Given the description of an element on the screen output the (x, y) to click on. 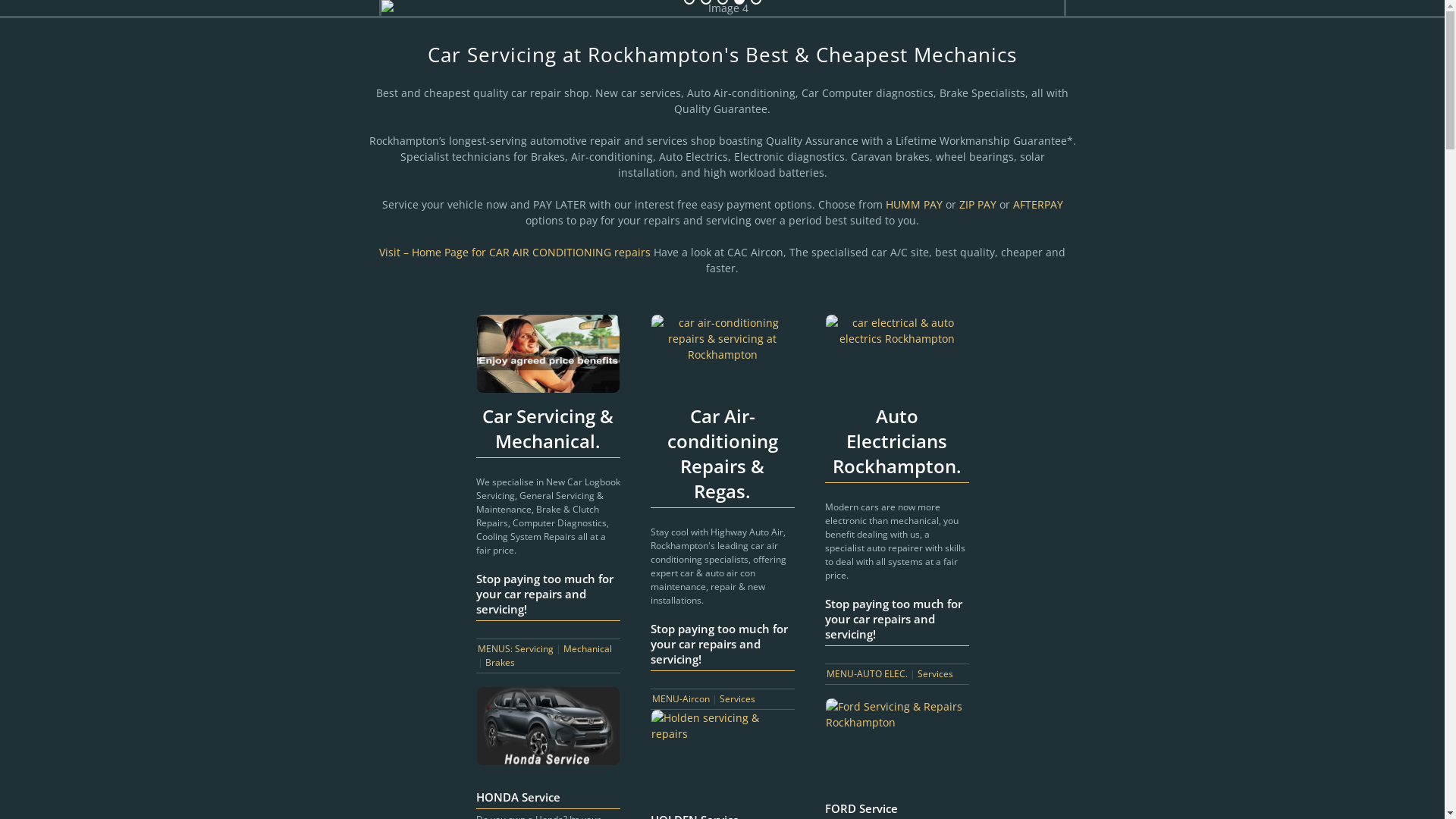
Mechanical Element type: text (586, 648)
HUMM PAY Element type: text (912, 204)
AFTERPAY Element type: text (1038, 204)
MENU-AUTO ELEC. Element type: text (866, 673)
Services Element type: text (736, 698)
Services Element type: text (935, 673)
MENUS: Servicing Element type: text (515, 648)
MENU-Aircon Element type: text (680, 698)
Brakes Element type: text (499, 661)
ZIP PAY Element type: text (978, 204)
